Given the description of an element on the screen output the (x, y) to click on. 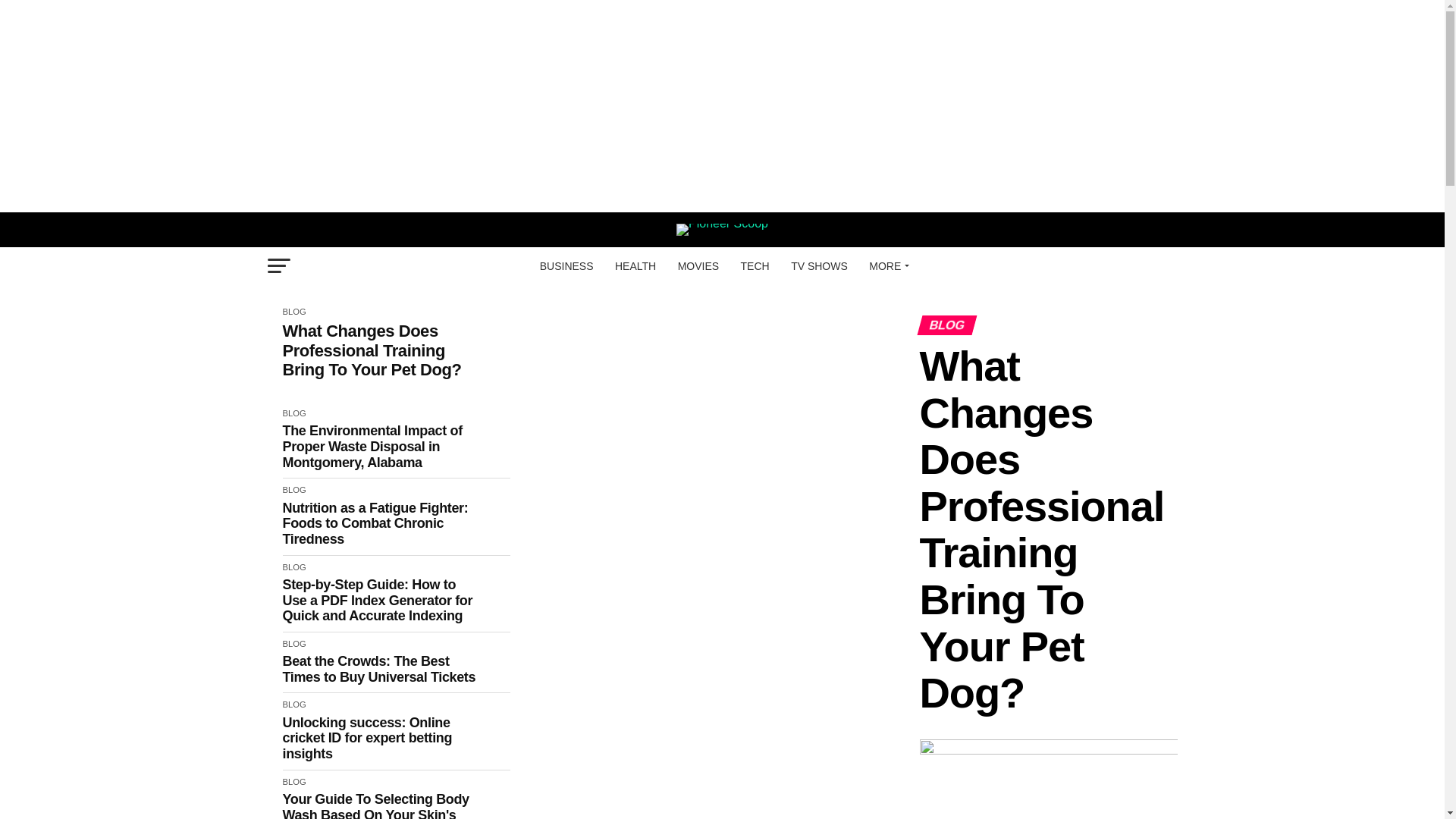
BLOG (293, 311)
HEALTH (635, 266)
TV SHOWS (819, 266)
MORE (887, 266)
TECH (755, 266)
BUSINESS (566, 266)
MOVIES (698, 266)
